Given the description of an element on the screen output the (x, y) to click on. 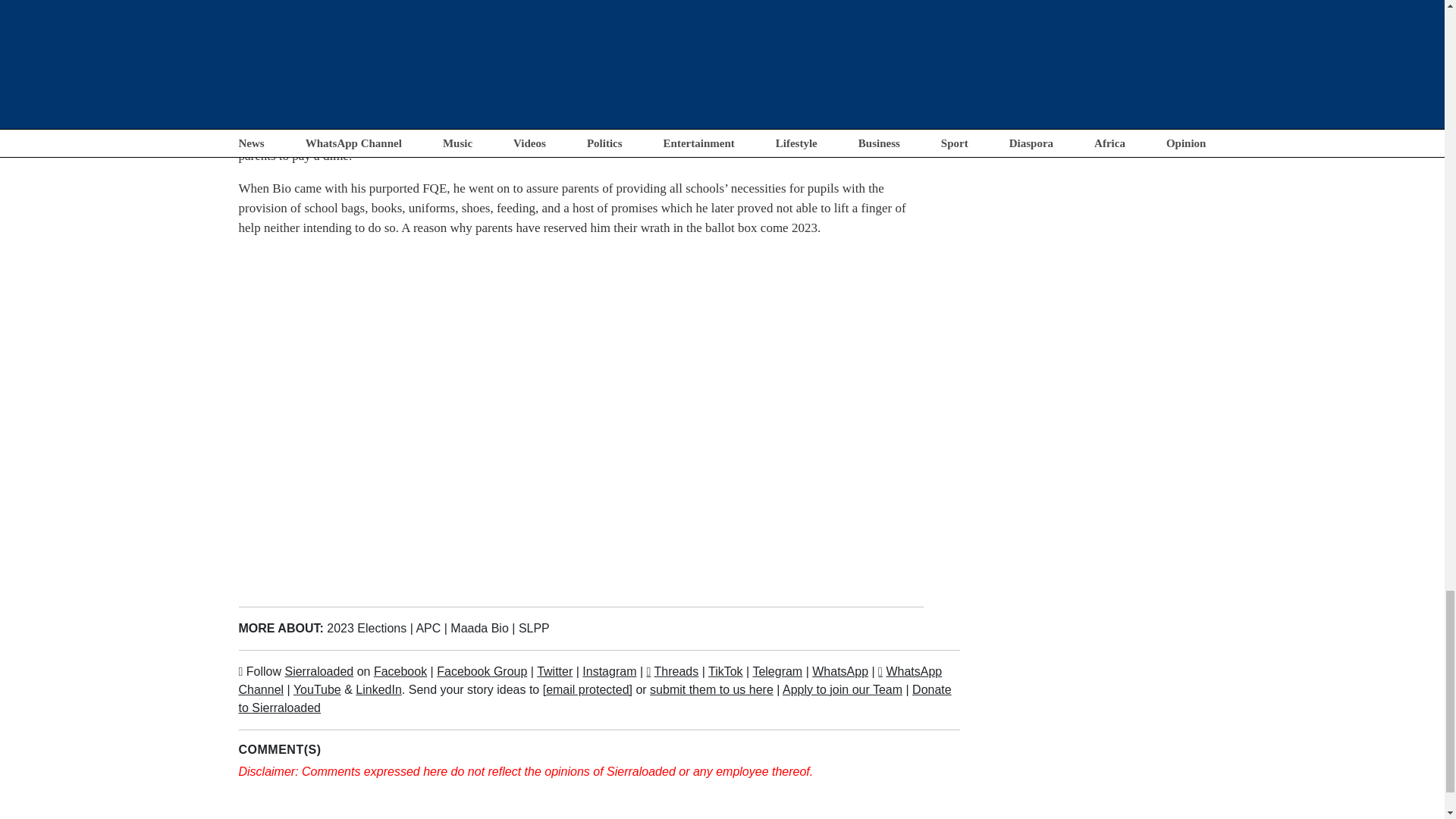
2023 Elections (366, 627)
SLPP (534, 627)
Maada Bio (478, 627)
APC (427, 627)
